Given the description of an element on the screen output the (x, y) to click on. 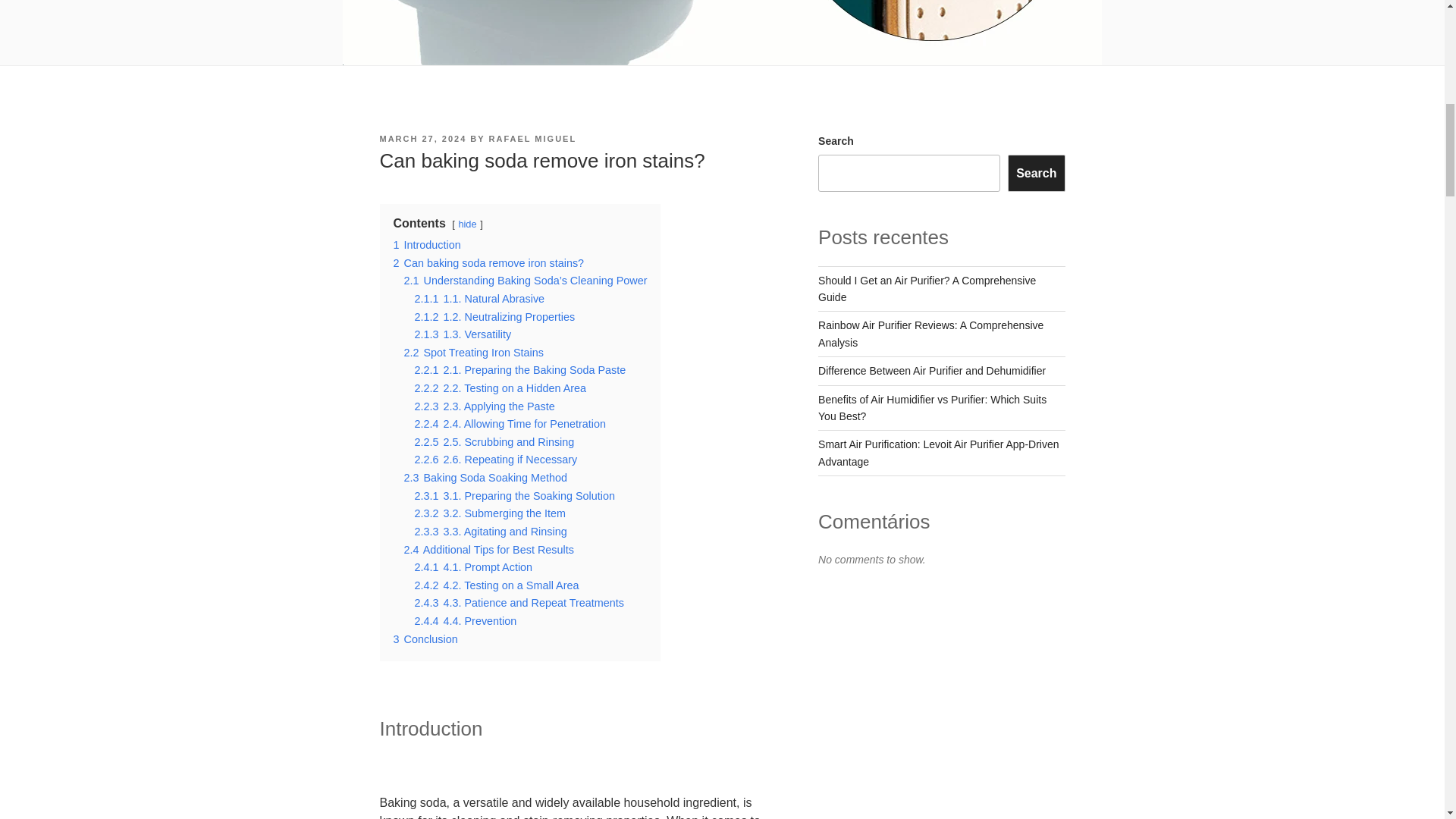
3 Conclusion (425, 639)
2.1.3 1.3. Versatility (462, 334)
2.4.4 4.4. Prevention (464, 621)
2.2.2 2.2. Testing on a Hidden Area (499, 387)
2.4.3 4.3. Patience and Repeat Treatments (518, 603)
2.2.3 2.3. Applying the Paste (483, 406)
Search (1035, 172)
2.1.2 1.2. Neutralizing Properties (494, 316)
2.2.1 2.1. Preparing the Baking Soda Paste (519, 369)
2.3.3 3.3. Agitating and Rinsing (489, 531)
2.4.2 4.2. Testing on a Small Area (495, 585)
MARCH 27, 2024 (421, 138)
2.4.1 4.1. Prompt Action (472, 567)
2.4 Additional Tips for Best Results (488, 548)
2 Can baking soda remove iron stains? (488, 263)
